Given the description of an element on the screen output the (x, y) to click on. 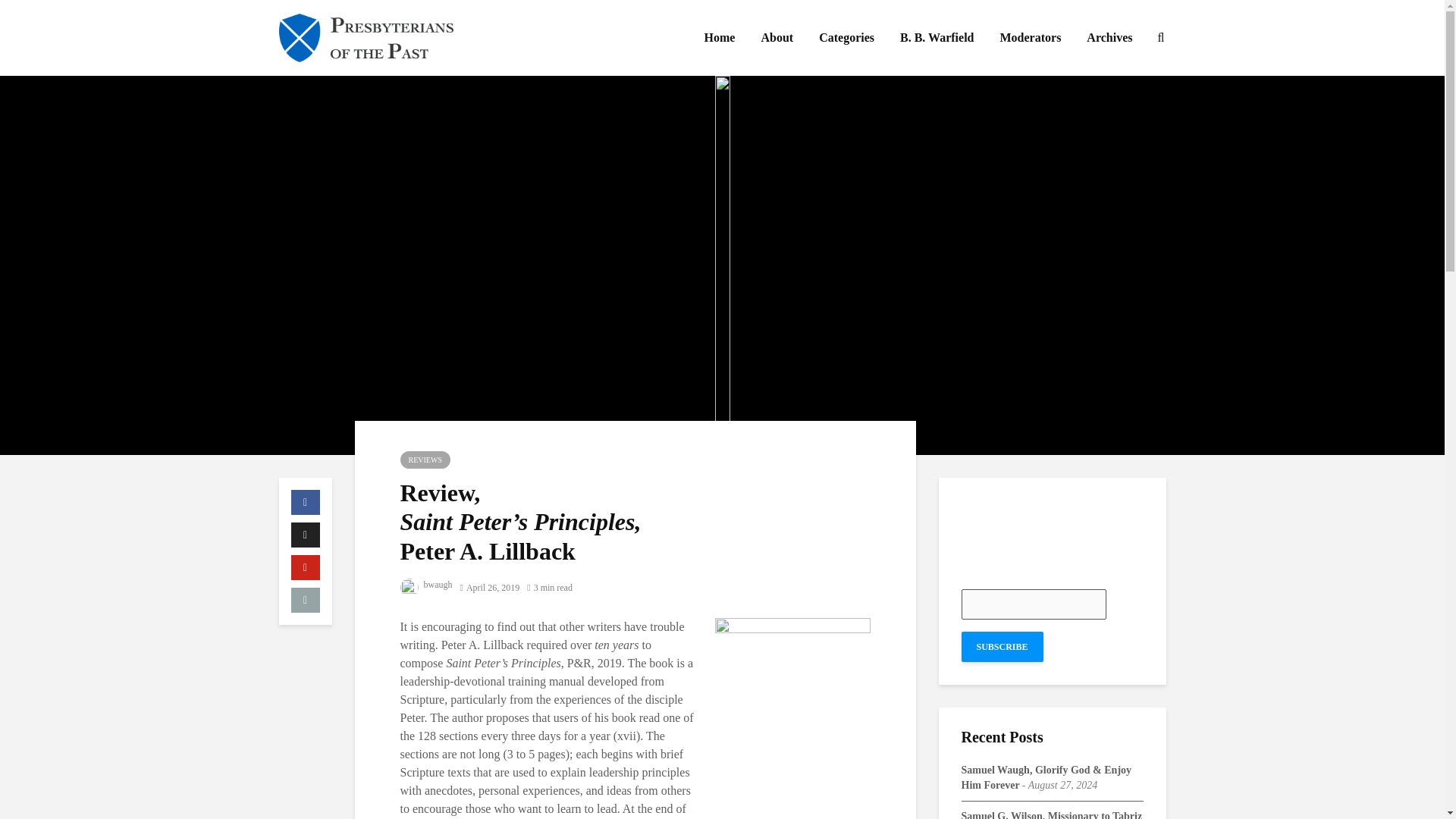
About (777, 37)
B. B. Warfield (936, 37)
Subscribe (1001, 646)
Categories (846, 37)
Home (719, 37)
Moderators (1030, 37)
Archives (1108, 37)
